Given the description of an element on the screen output the (x, y) to click on. 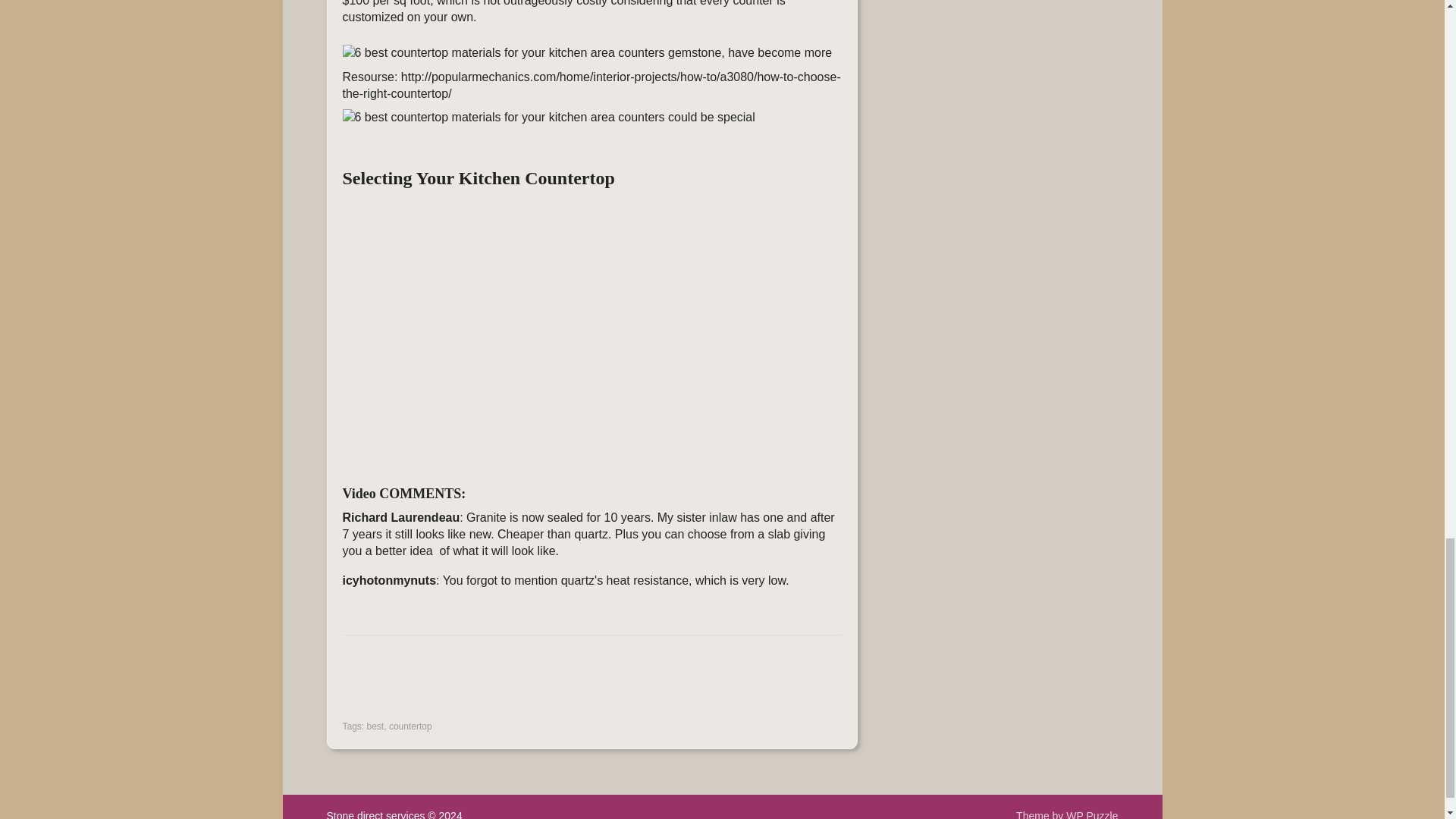
Share in Twitter (509, 685)
Share in VK (395, 685)
Share in OK (433, 685)
Share in Facebook (357, 685)
best (375, 726)
countertop (410, 726)
